Given the description of an element on the screen output the (x, y) to click on. 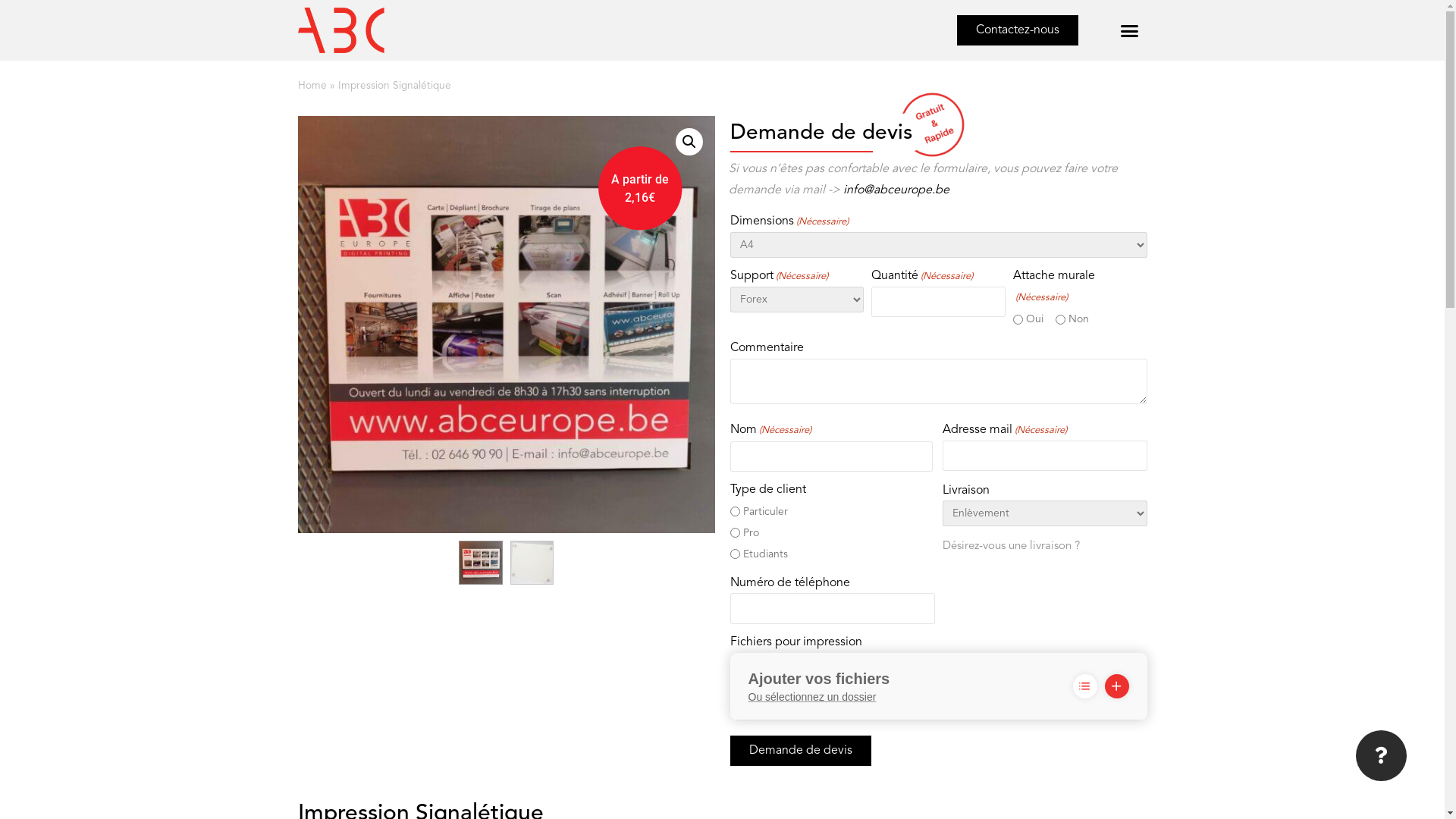
signaletique-square Element type: hover (505, 324)
Ajouter vos fichiers Element type: hover (1116, 686)
info@abceurope.be Element type: text (896, 190)
Contactez-nous Element type: text (1017, 30)
Demande de devis Element type: text (799, 750)
Home Element type: text (311, 86)
